Given the description of an element on the screen output the (x, y) to click on. 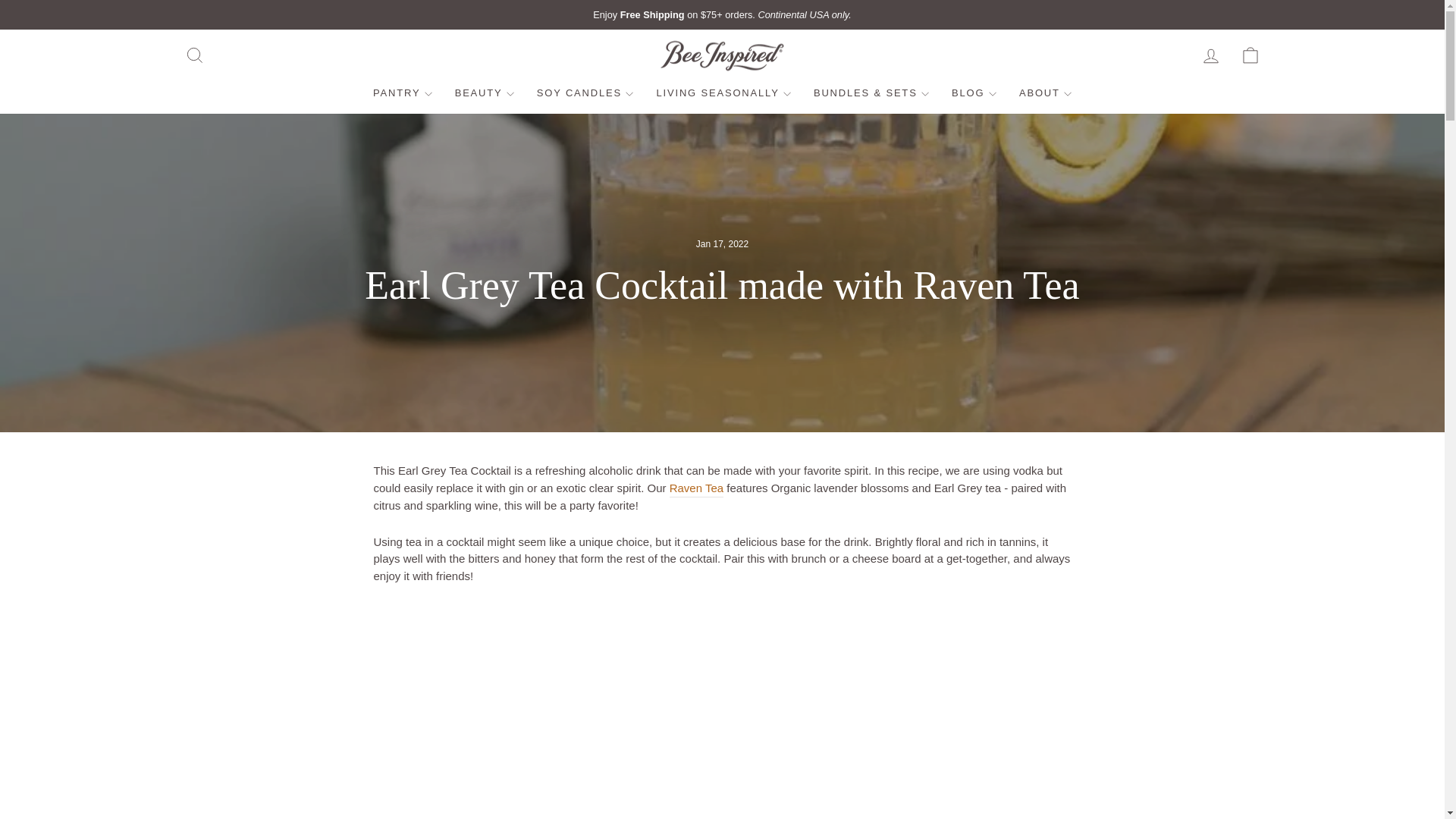
YouTube video player (584, 711)
